Given the description of an element on the screen output the (x, y) to click on. 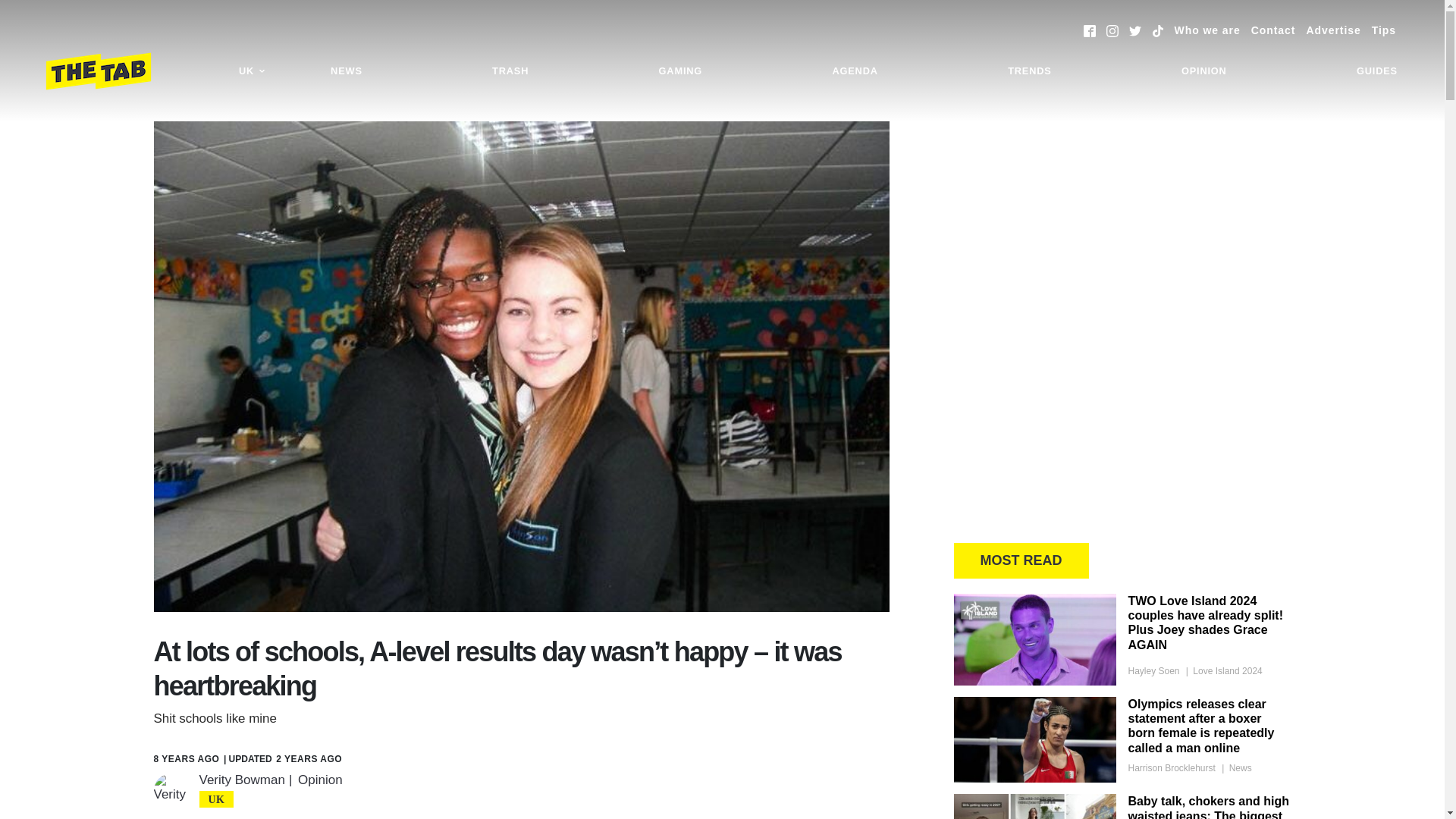
Who we are (1207, 29)
OPINION (1204, 71)
UK (252, 71)
NEWS (346, 71)
Advertise (1332, 29)
TRASH (510, 71)
AGENDA (854, 71)
Contact (1272, 29)
Tips (1383, 29)
GAMING (680, 71)
GUIDES (1377, 71)
TRENDS (1028, 71)
